Given the description of an element on the screen output the (x, y) to click on. 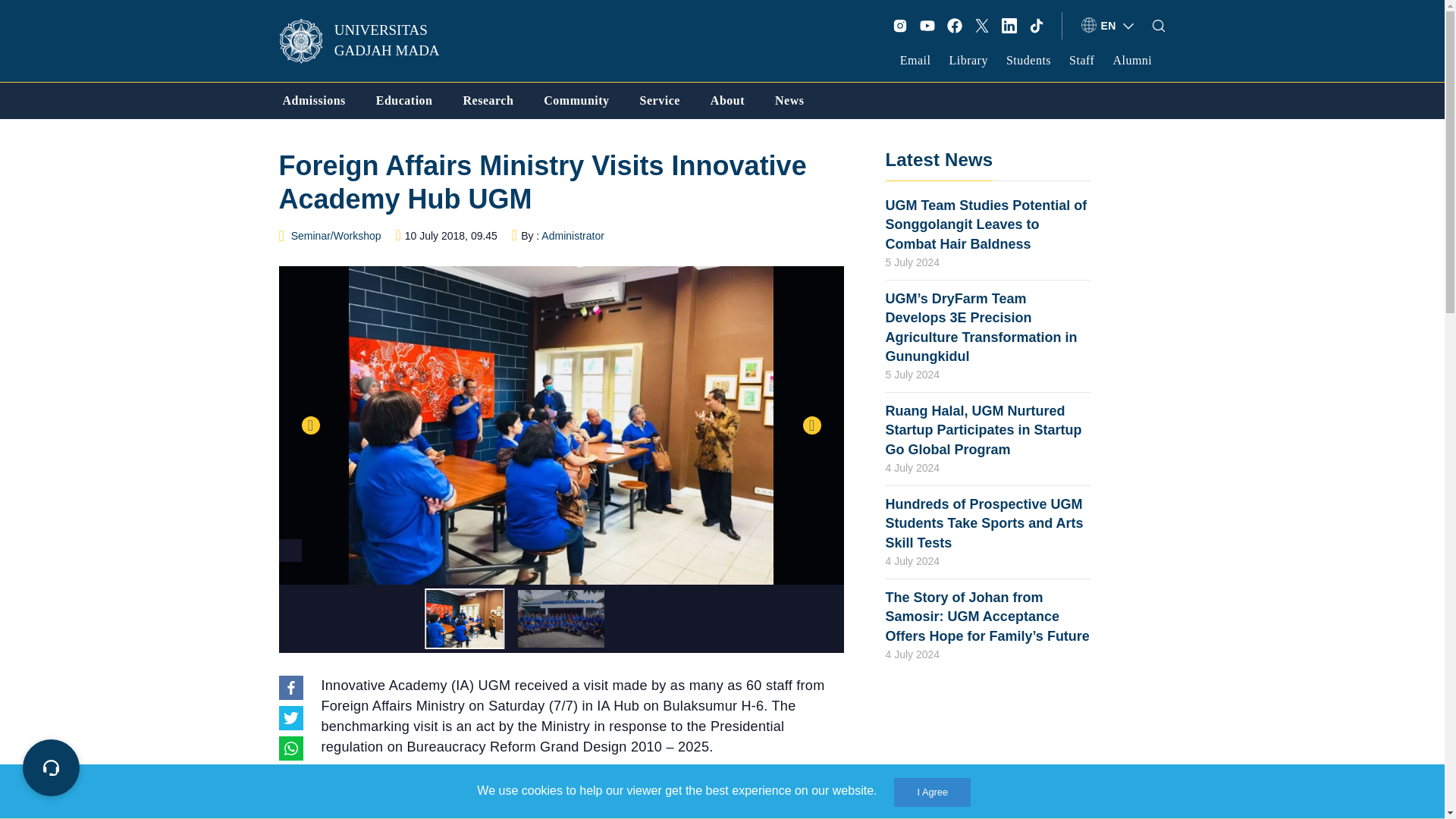
Posts by Administrator (572, 235)
Alumni (1131, 60)
EN (1108, 25)
Staff (1081, 60)
Education (403, 100)
UNIVERSITAS GADJAH MADA (369, 40)
Admissions (313, 100)
Email (915, 60)
Students (1028, 60)
Library (968, 60)
